Given the description of an element on the screen output the (x, y) to click on. 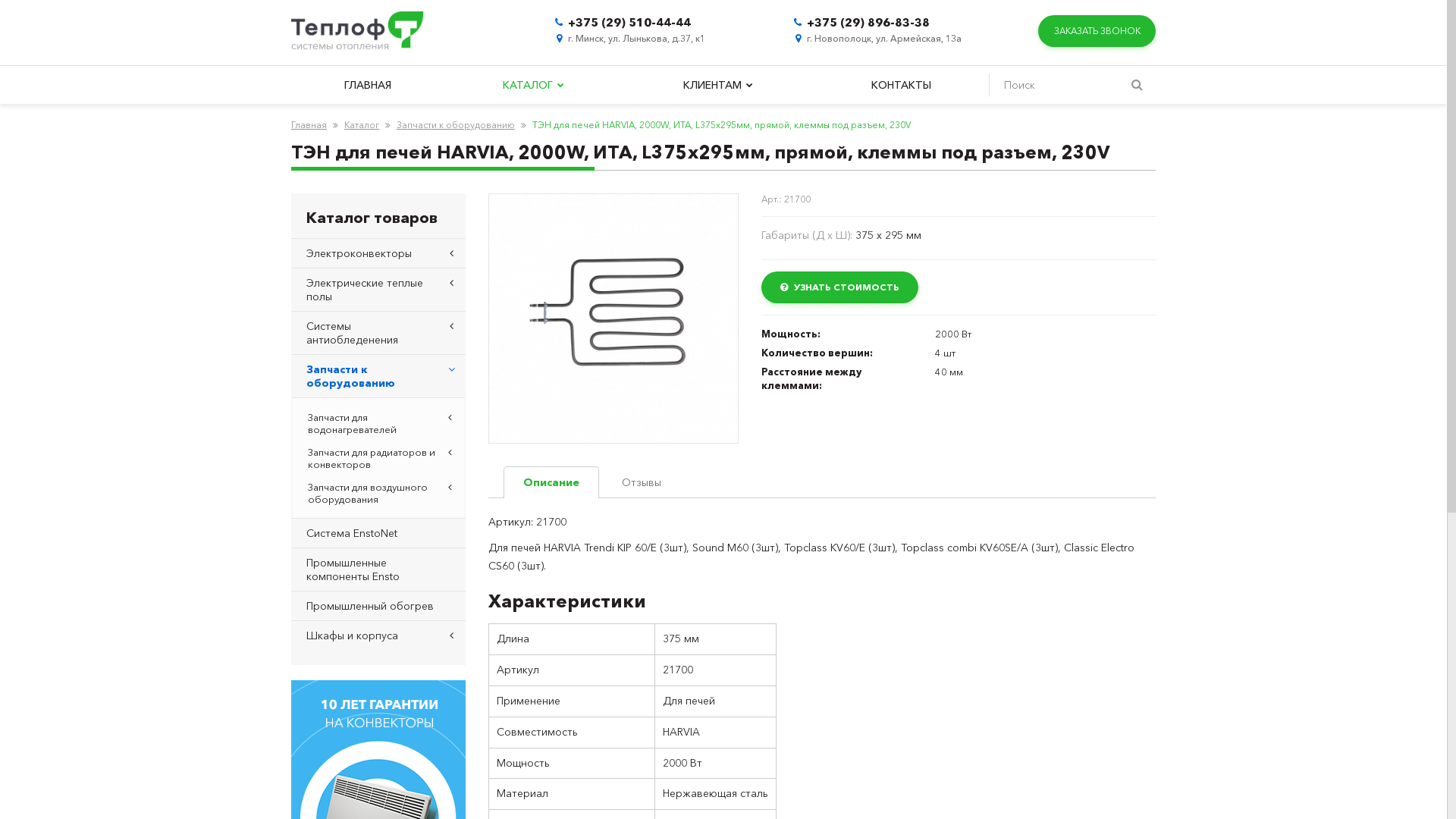
+375 (29) 896-83-38 Element type: text (867, 22)
+375 (29) 510-44-44 Element type: text (628, 22)
